Given the description of an element on the screen output the (x, y) to click on. 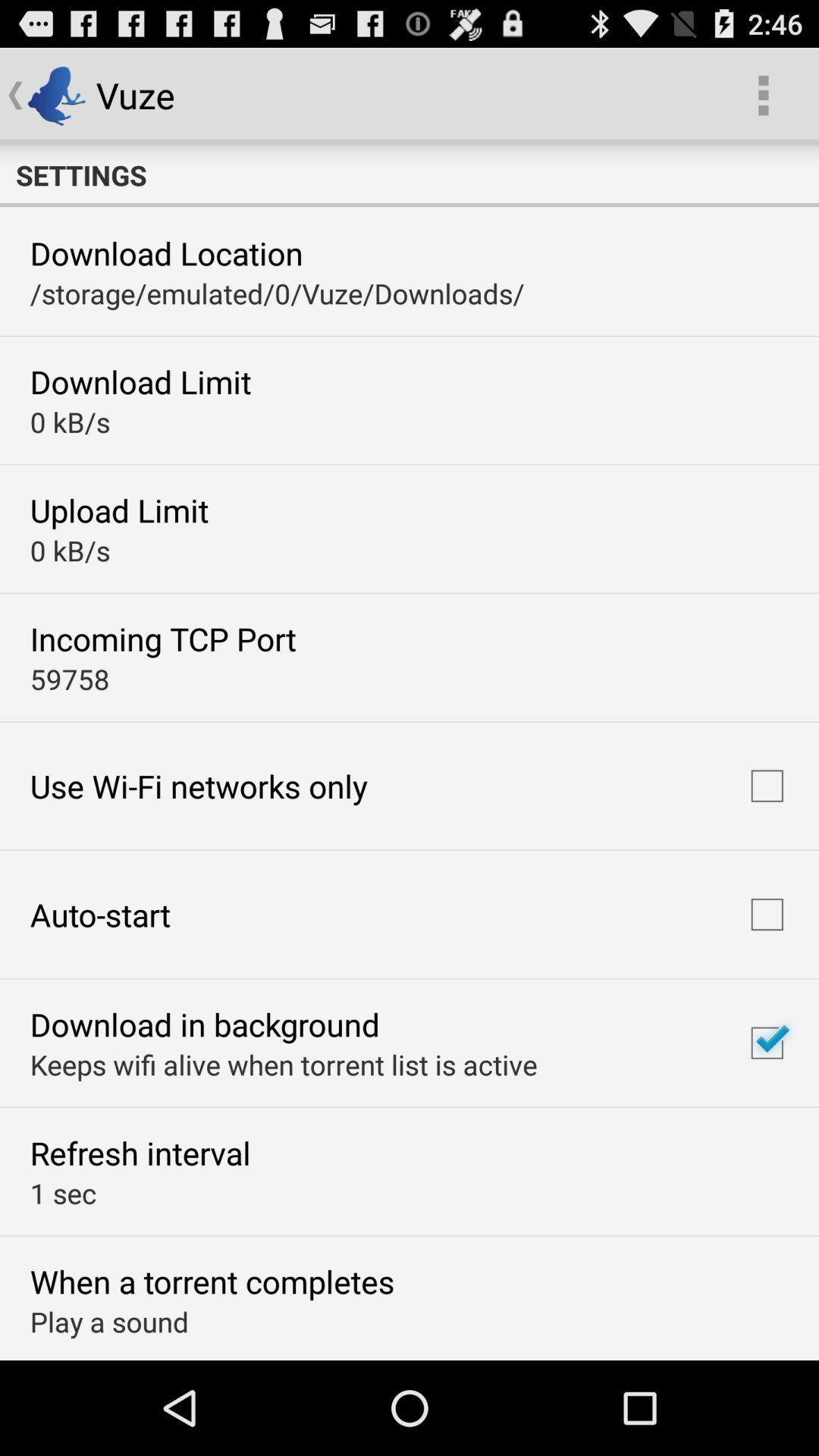
click the 1 sec icon (63, 1193)
